Given the description of an element on the screen output the (x, y) to click on. 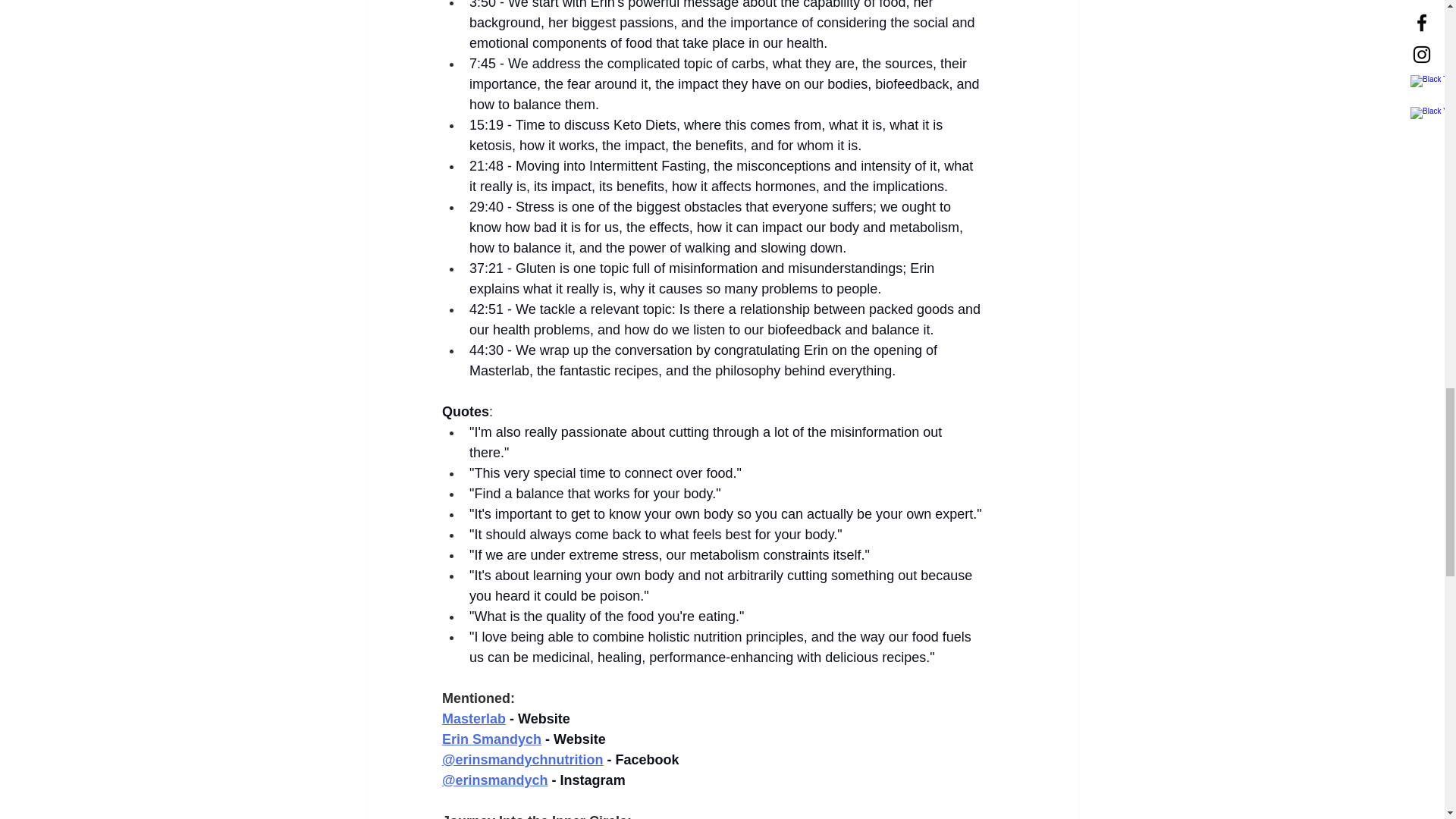
Masterlab (473, 718)
Erin Smandych (490, 739)
